Given the description of an element on the screen output the (x, y) to click on. 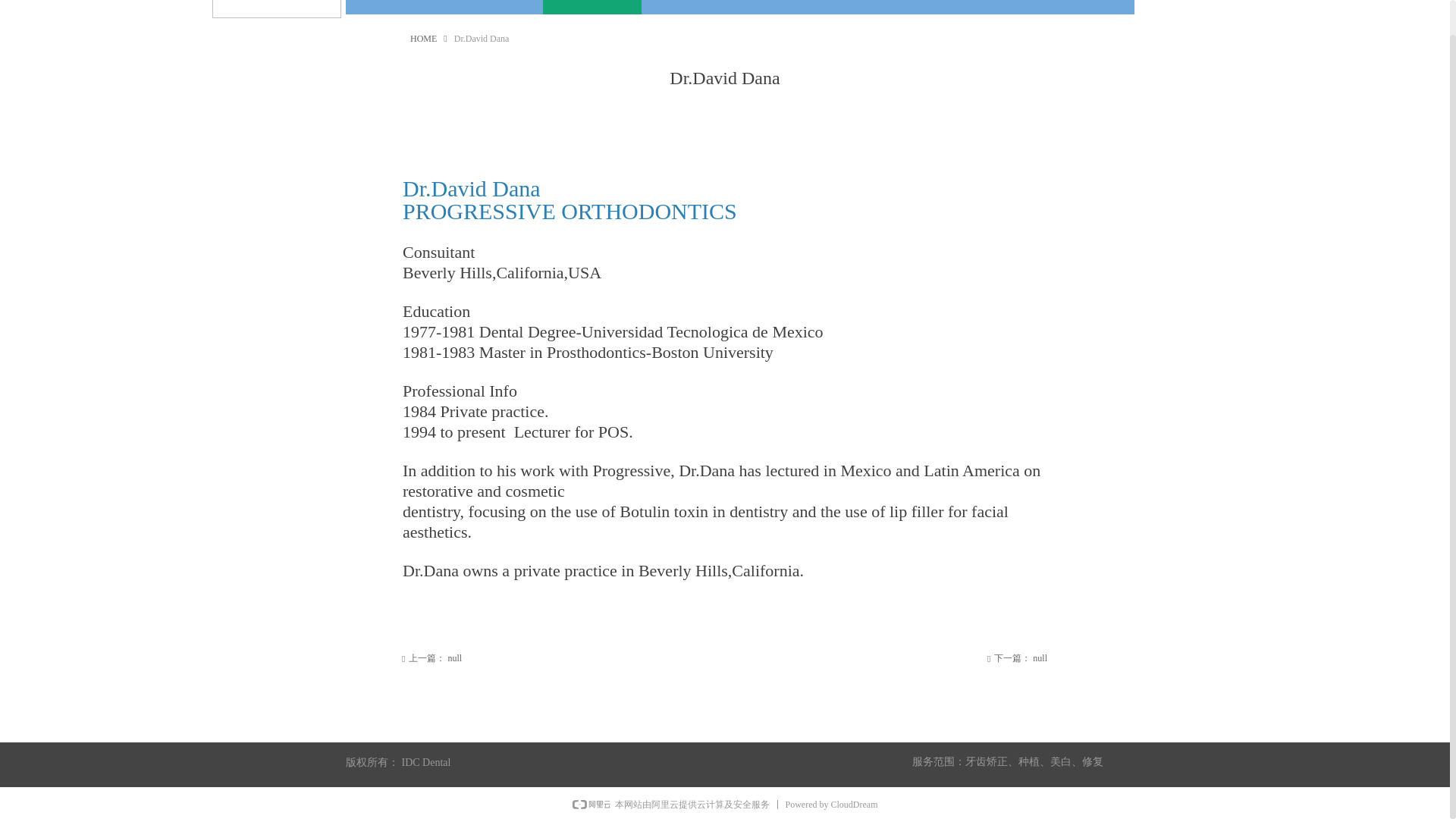
For Patients (493, 7)
Expert Doctors (592, 7)
Cosmetic and Family Dentistry (690, 7)
About Us (395, 7)
